Given the description of an element on the screen output the (x, y) to click on. 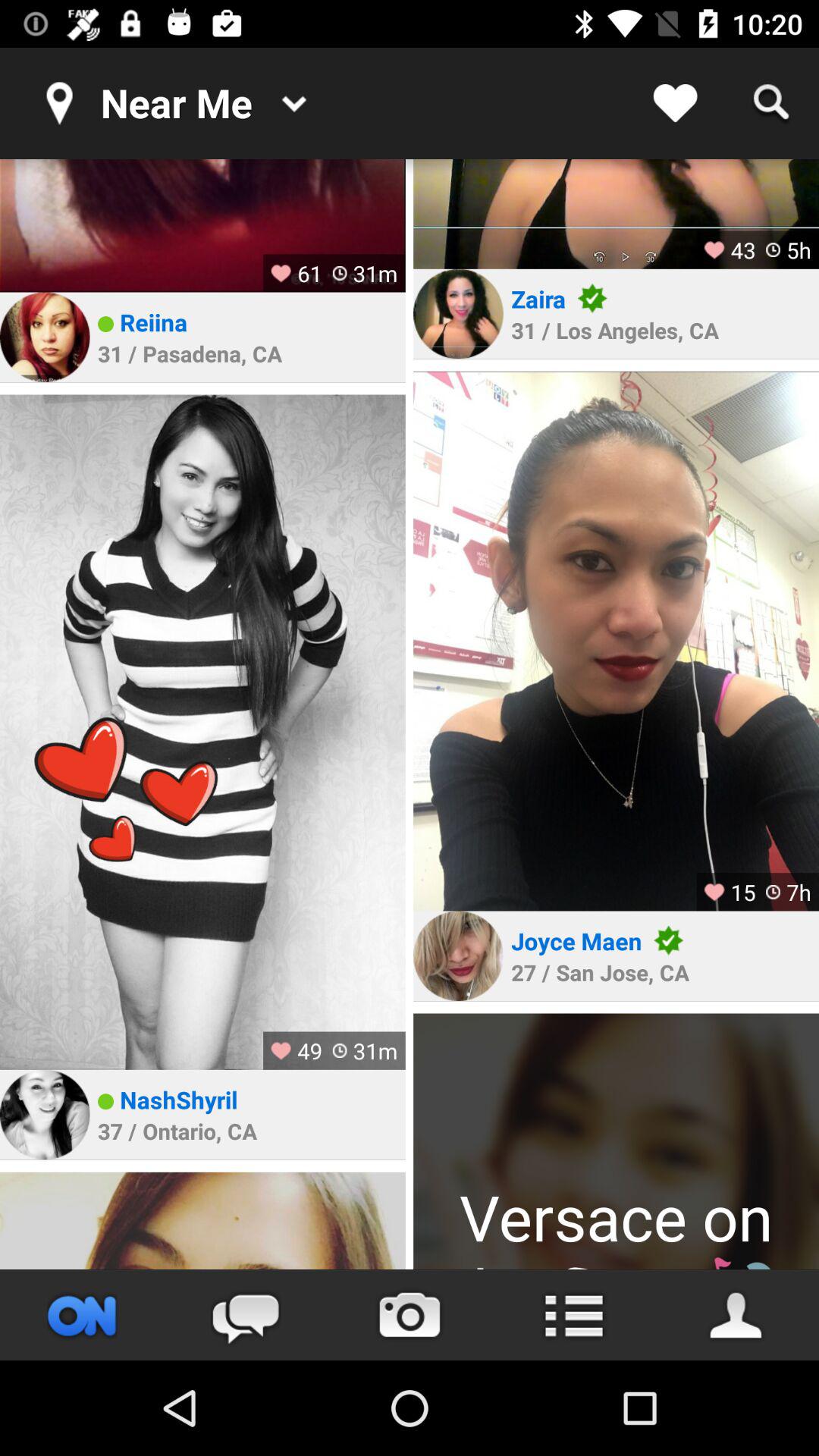
open chat (245, 1315)
